Given the description of an element on the screen output the (x, y) to click on. 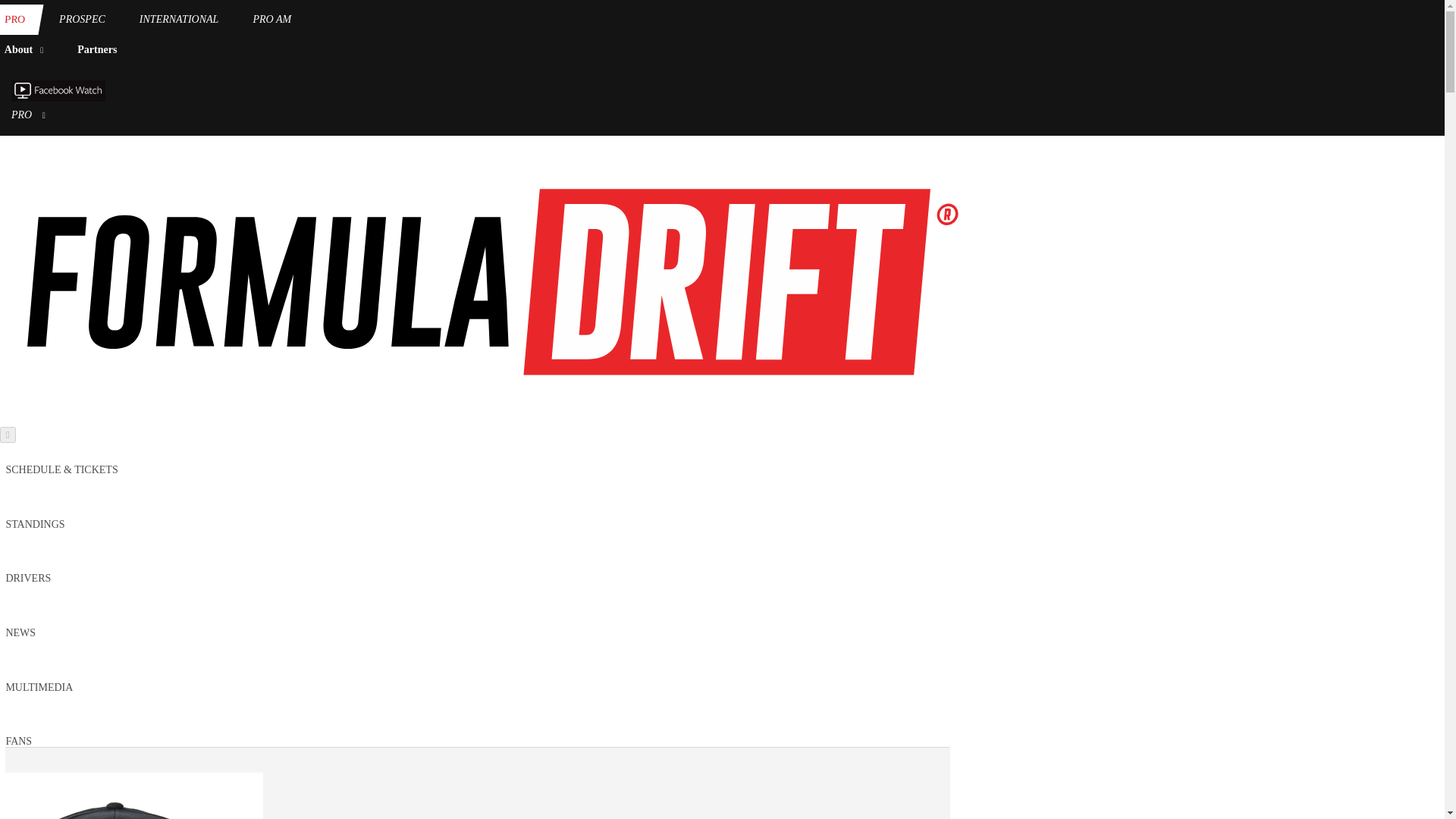
FANS (18, 740)
PROSPEC (81, 19)
NEWS (19, 632)
INTERNATIONAL (179, 19)
Partners (97, 49)
PRO (17, 19)
MULTIMEDIA (38, 686)
PRO AM (271, 19)
STANDINGS (34, 523)
DRIVERS (27, 577)
About   (27, 49)
